Given the description of an element on the screen output the (x, y) to click on. 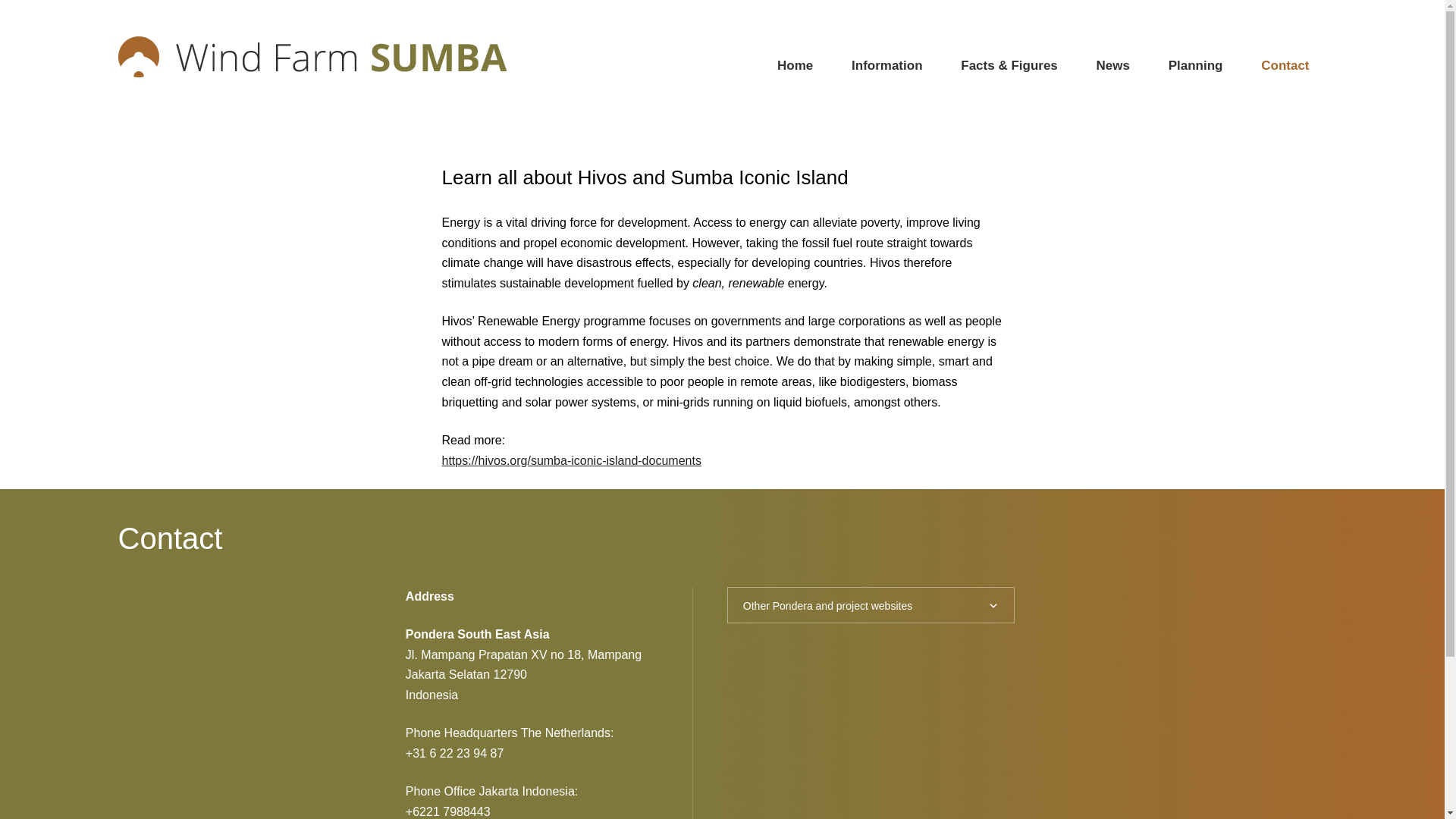
Information (887, 65)
Planning (1196, 65)
Contact (1284, 65)
Other Pondera and project websites (870, 605)
